Given the description of an element on the screen output the (x, y) to click on. 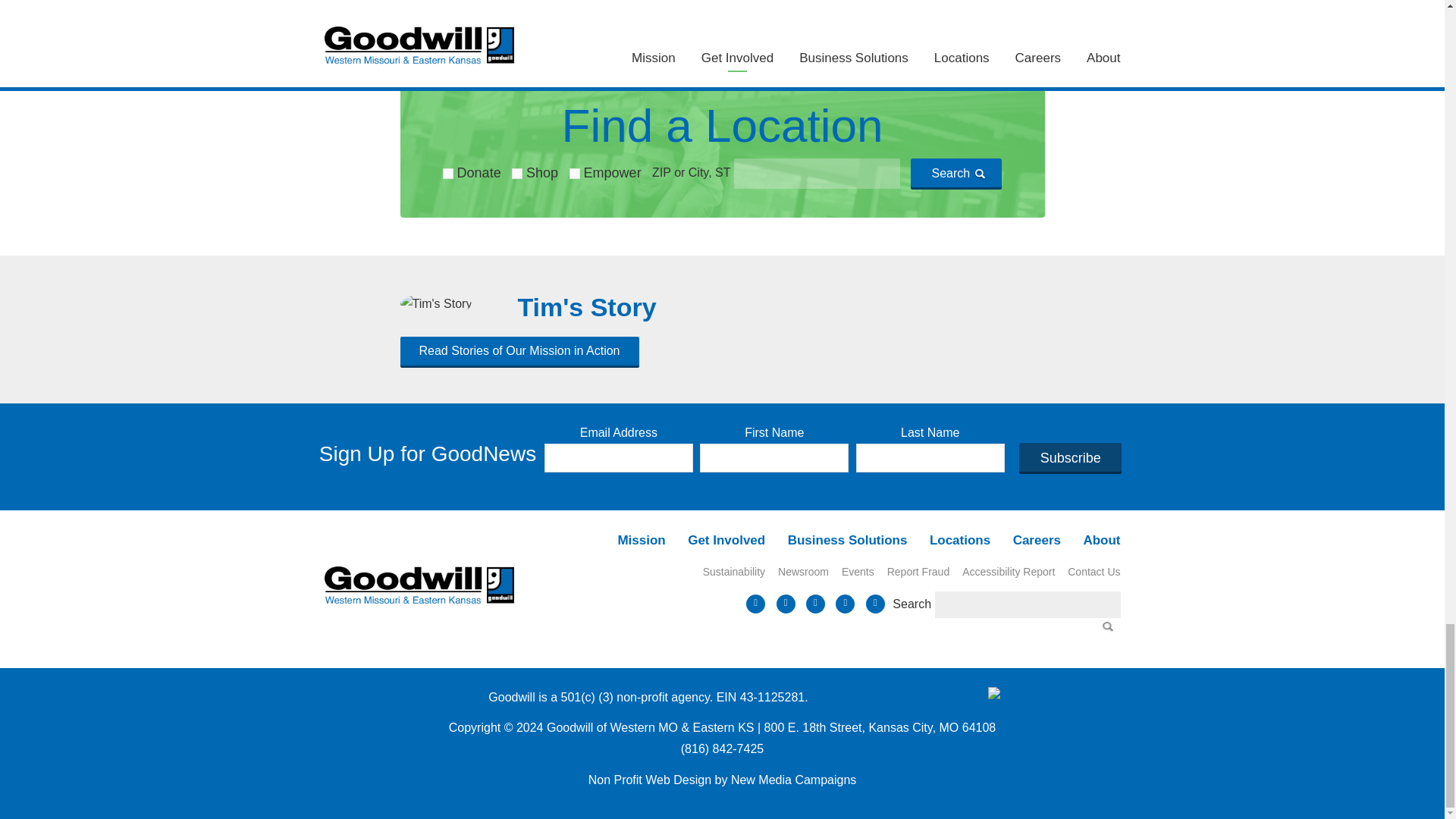
Search (956, 172)
Subscribe (1070, 457)
Find (1110, 629)
